Given the description of an element on the screen output the (x, y) to click on. 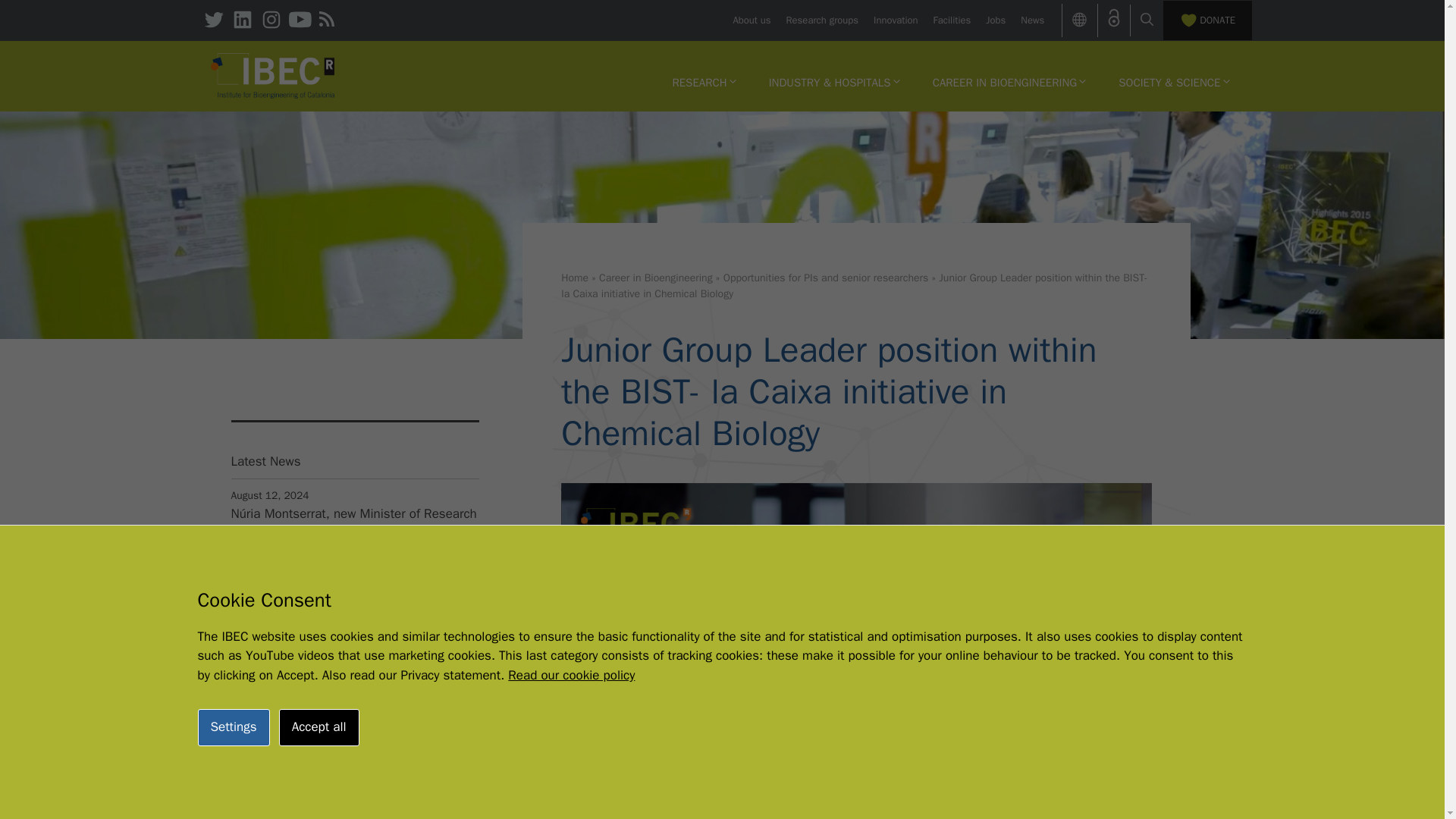
Facilities (952, 19)
Institute for Bioengineering of Catalonia (272, 75)
Jobs (995, 19)
About us (751, 19)
RESEARCH (704, 81)
DONATE (1207, 20)
Institute for Bioengineering of Catalonia (272, 74)
News (1031, 19)
Innovation (895, 19)
Research groups (822, 19)
